Given the description of an element on the screen output the (x, y) to click on. 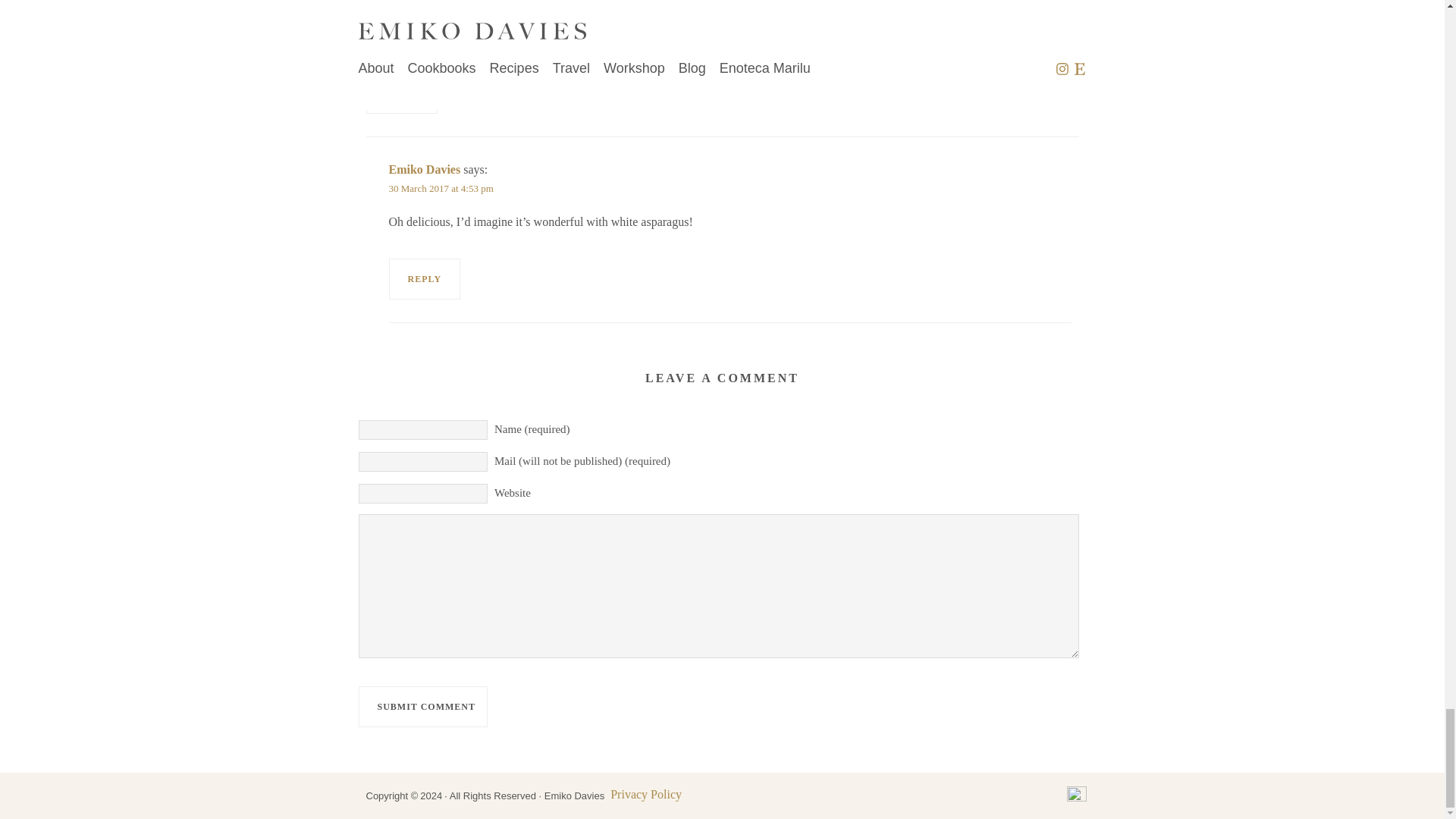
Privacy Policy (645, 793)
Submit Comment (422, 706)
